Given the description of an element on the screen output the (x, y) to click on. 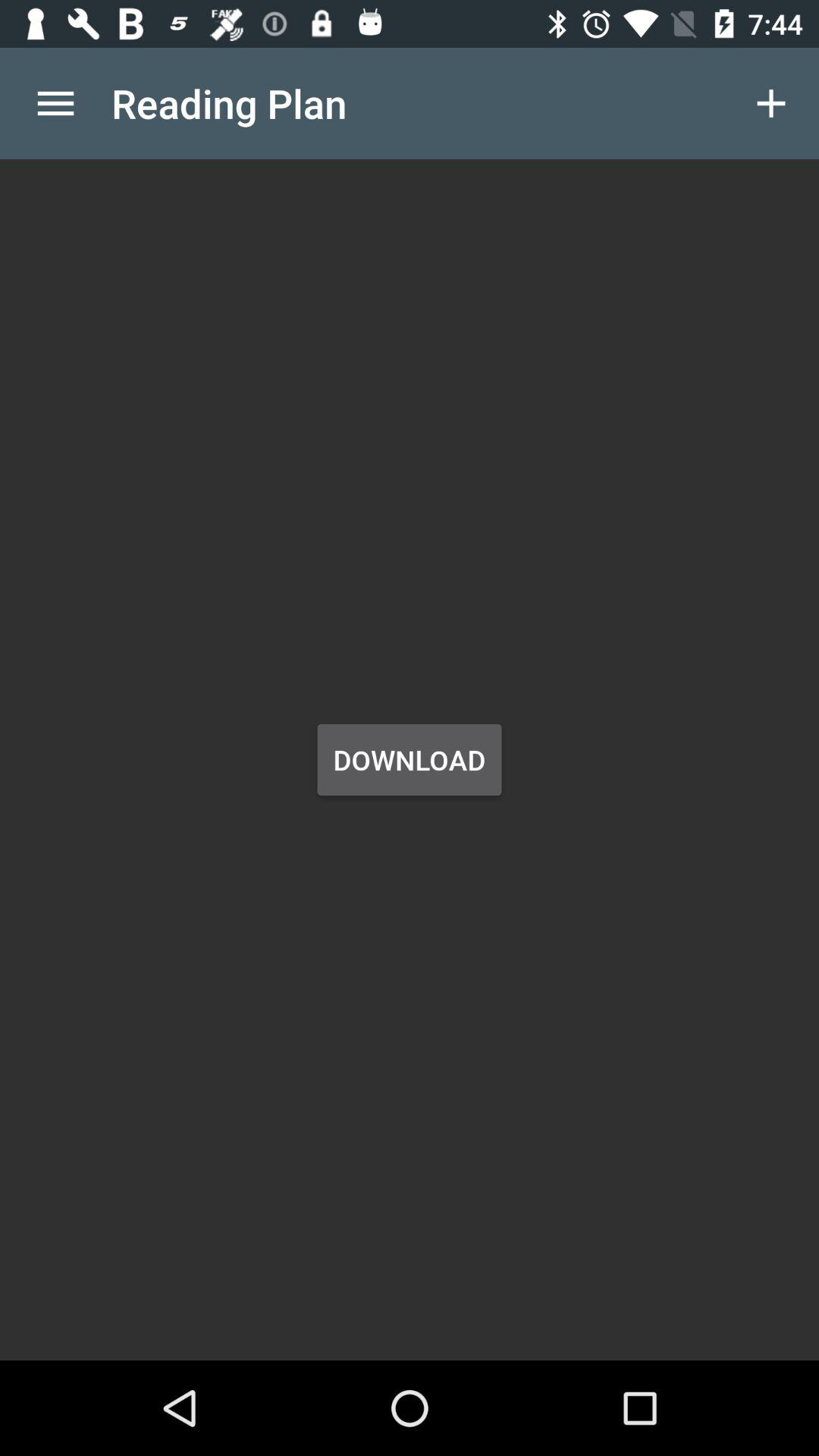
select item next to the reading plan icon (55, 103)
